Given the description of an element on the screen output the (x, y) to click on. 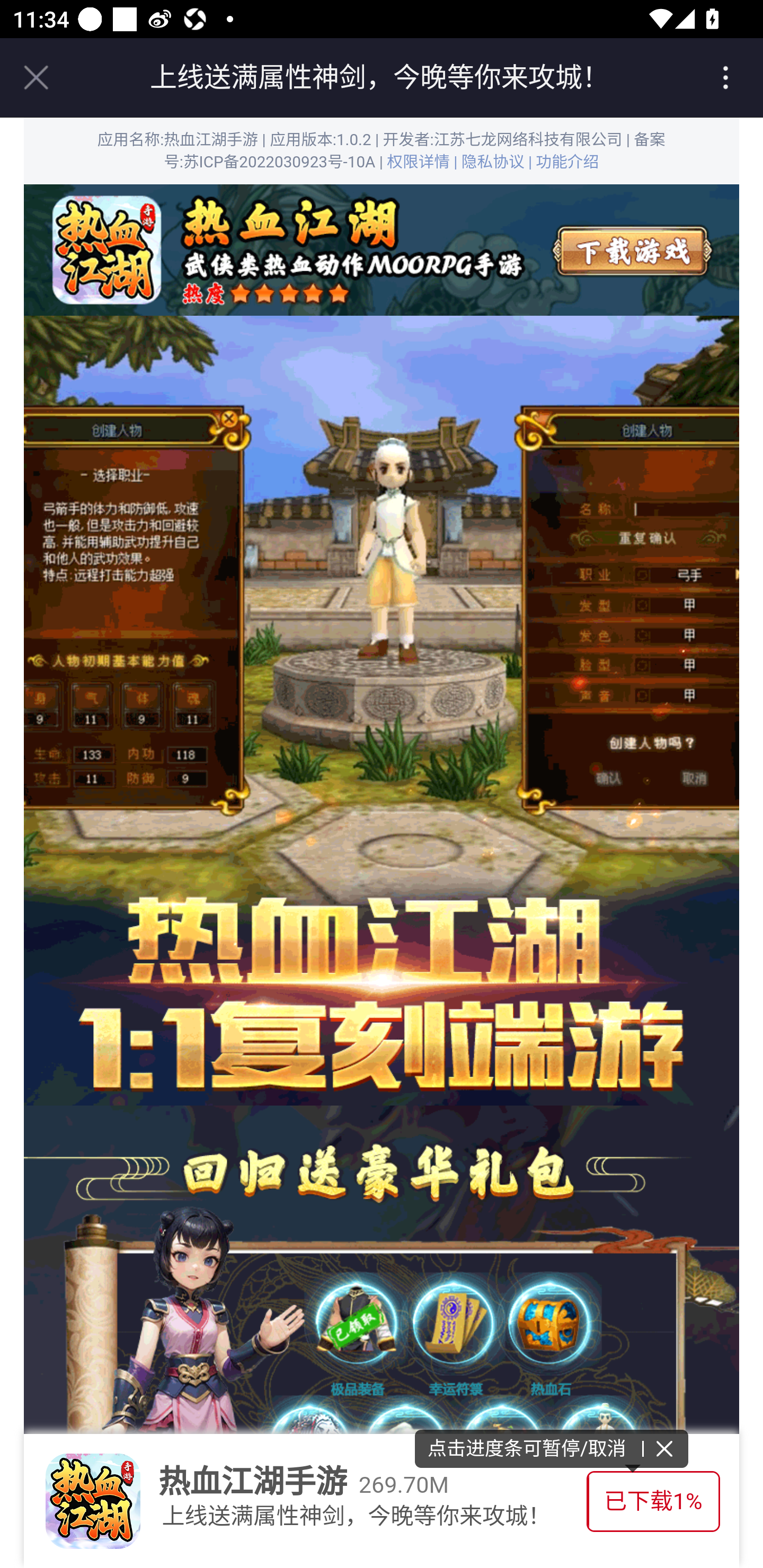
上线送满属性神剑，今晚等你来攻城！ (379, 77)
0?tp=webp (381, 249)
已下载1% 已下载1% (653, 1500)
